Given the description of an element on the screen output the (x, y) to click on. 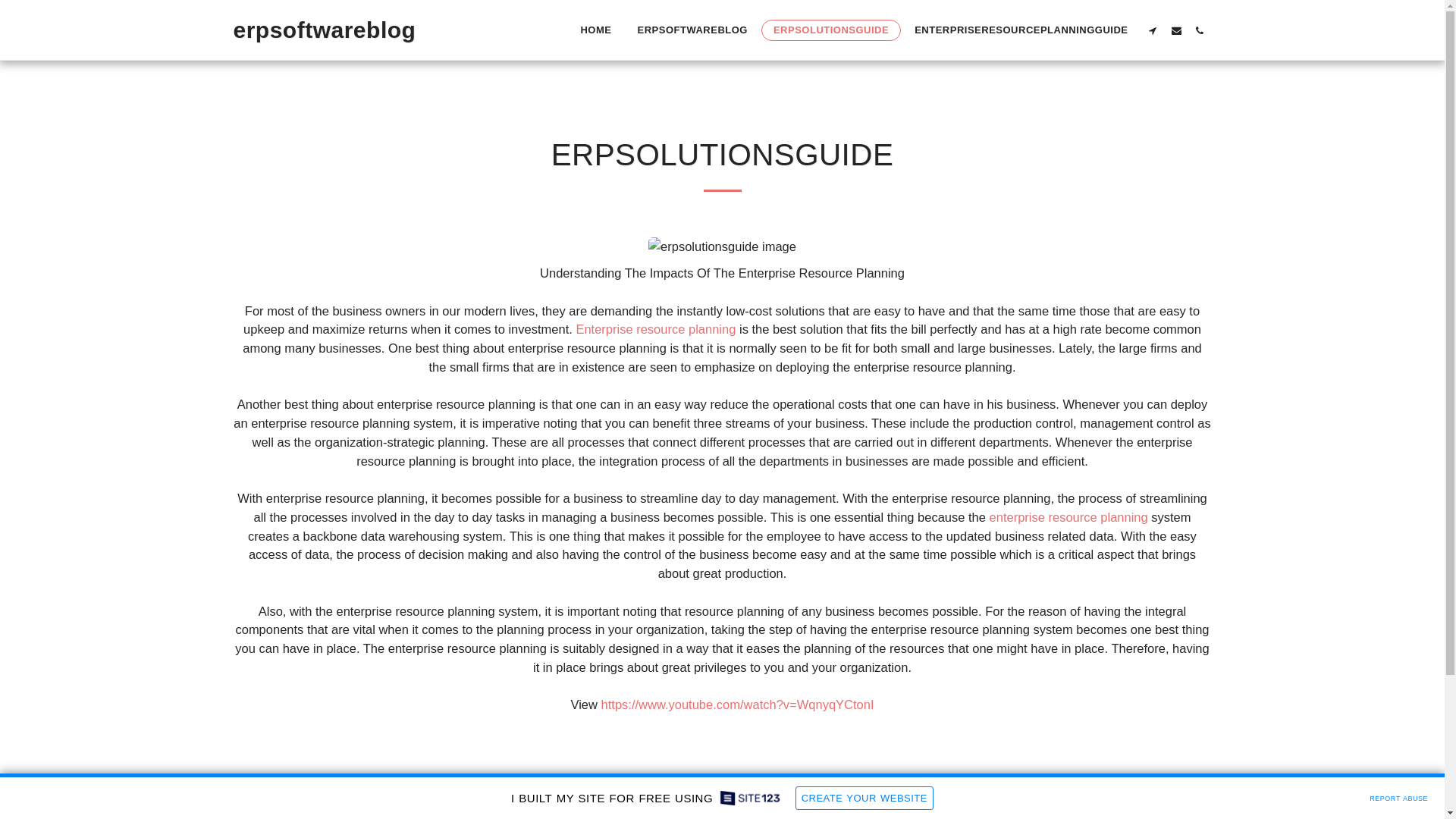
erpsoftwareblog (324, 30)
ENTERPRISERESOURCEPLANNINGGUIDE (1021, 29)
ERPSOFTWAREBLOG (691, 29)
HOME (595, 29)
enterprise resource planning (1069, 517)
ERPSOLUTIONSGUIDE (831, 29)
Enterprise resource planning (655, 328)
